Given the description of an element on the screen output the (x, y) to click on. 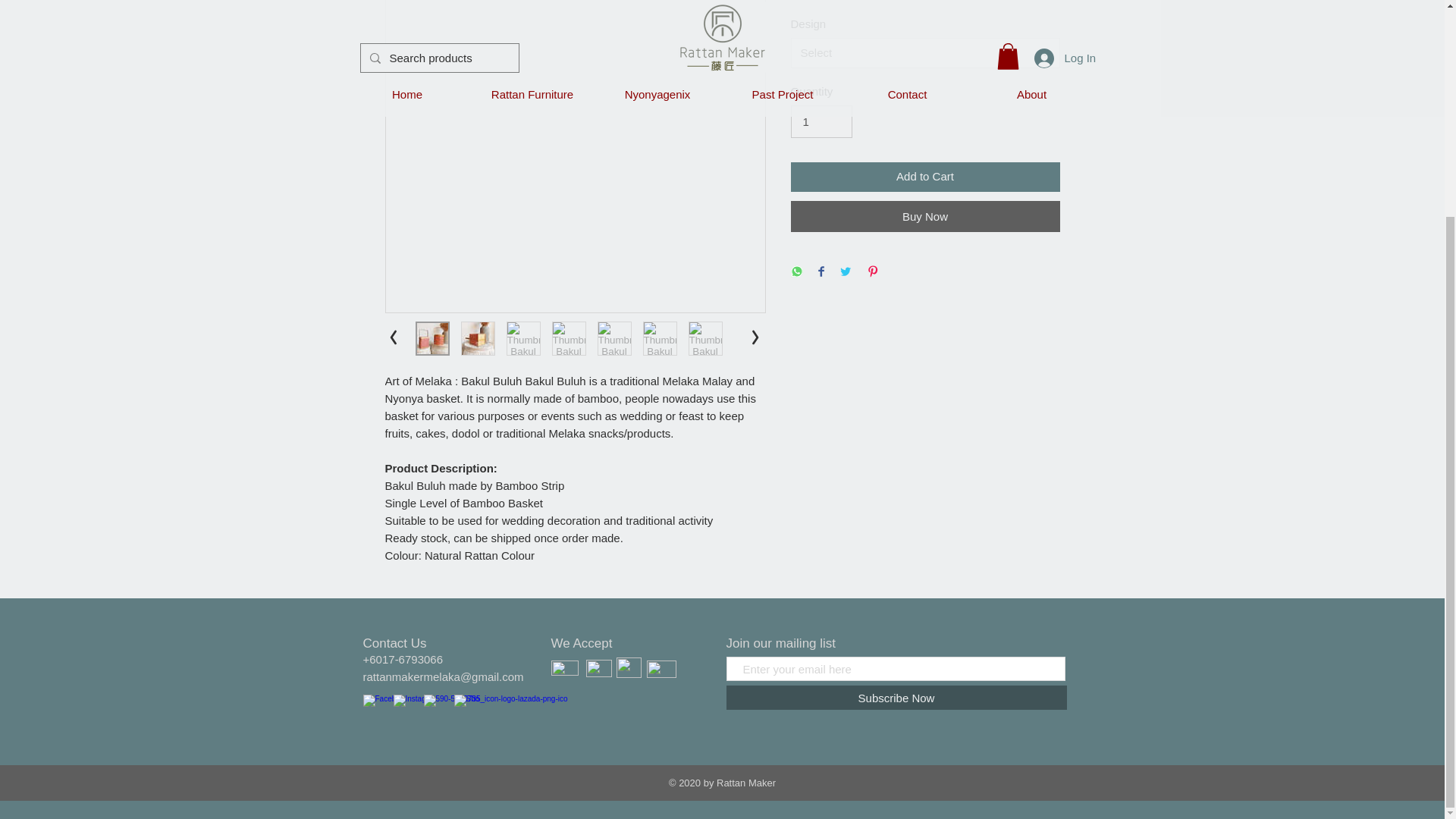
Add to Cart (924, 176)
Buy Now (924, 215)
Select (924, 52)
1 (820, 121)
